Given the description of an element on the screen output the (x, y) to click on. 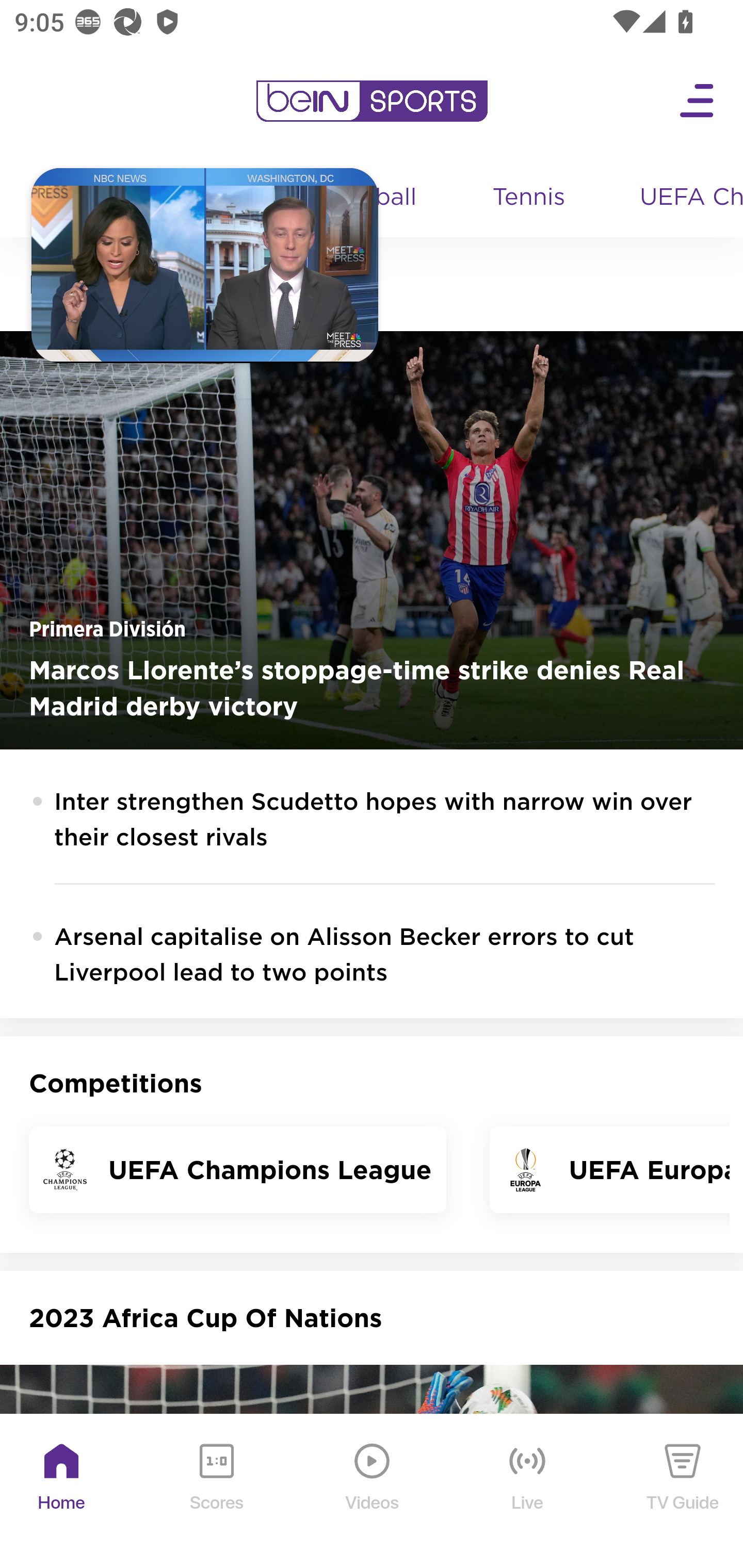
en-my?platform=mobile_android bein logo (371, 101)
Open Menu Icon (697, 101)
Tennis (530, 198)
UEFA Champions League (683, 198)
Home Home Icon Home (61, 1491)
Scores Scores Icon Scores (216, 1491)
Videos Videos Icon Videos (372, 1491)
TV Guide TV Guide Icon TV Guide (682, 1491)
